Given the description of an element on the screen output the (x, y) to click on. 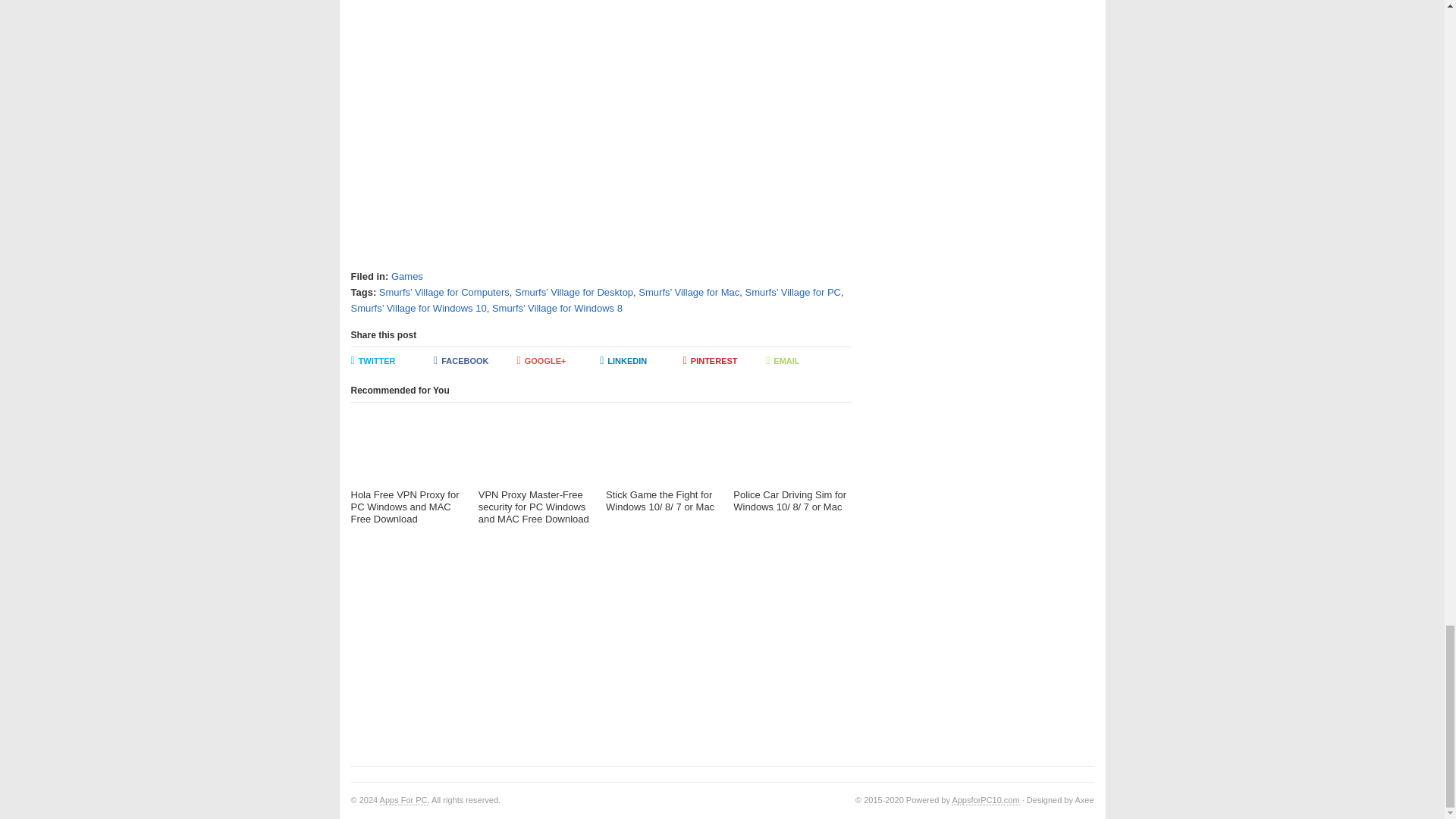
PINTEREST (724, 361)
TWITTER (391, 361)
Games (407, 276)
Advertisement (600, 128)
LINKEDIN (640, 361)
EMAIL (806, 361)
Hola Free VPN Proxy for PC Windows and MAC Free Download (408, 469)
FACEBOOK (474, 361)
